Given the description of an element on the screen output the (x, y) to click on. 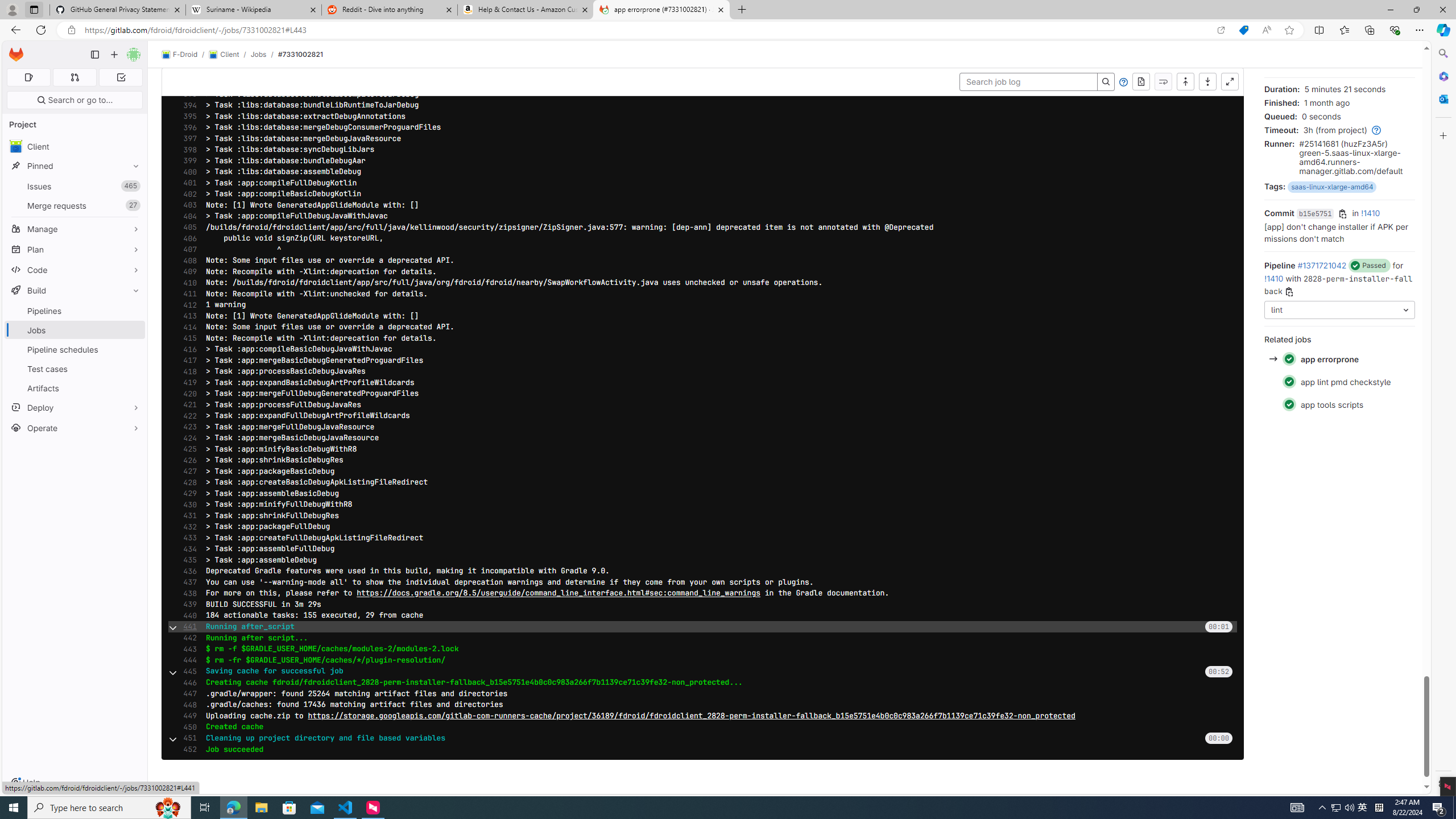
444 (186, 659)
Search job log (1028, 81)
398 (186, 149)
437 (186, 582)
Jobs (74, 330)
avatar Client (74, 145)
Deploy (74, 407)
Test cases (74, 368)
438 (186, 593)
396 (186, 127)
442 (186, 637)
403 (186, 205)
419 (186, 382)
